Given the description of an element on the screen output the (x, y) to click on. 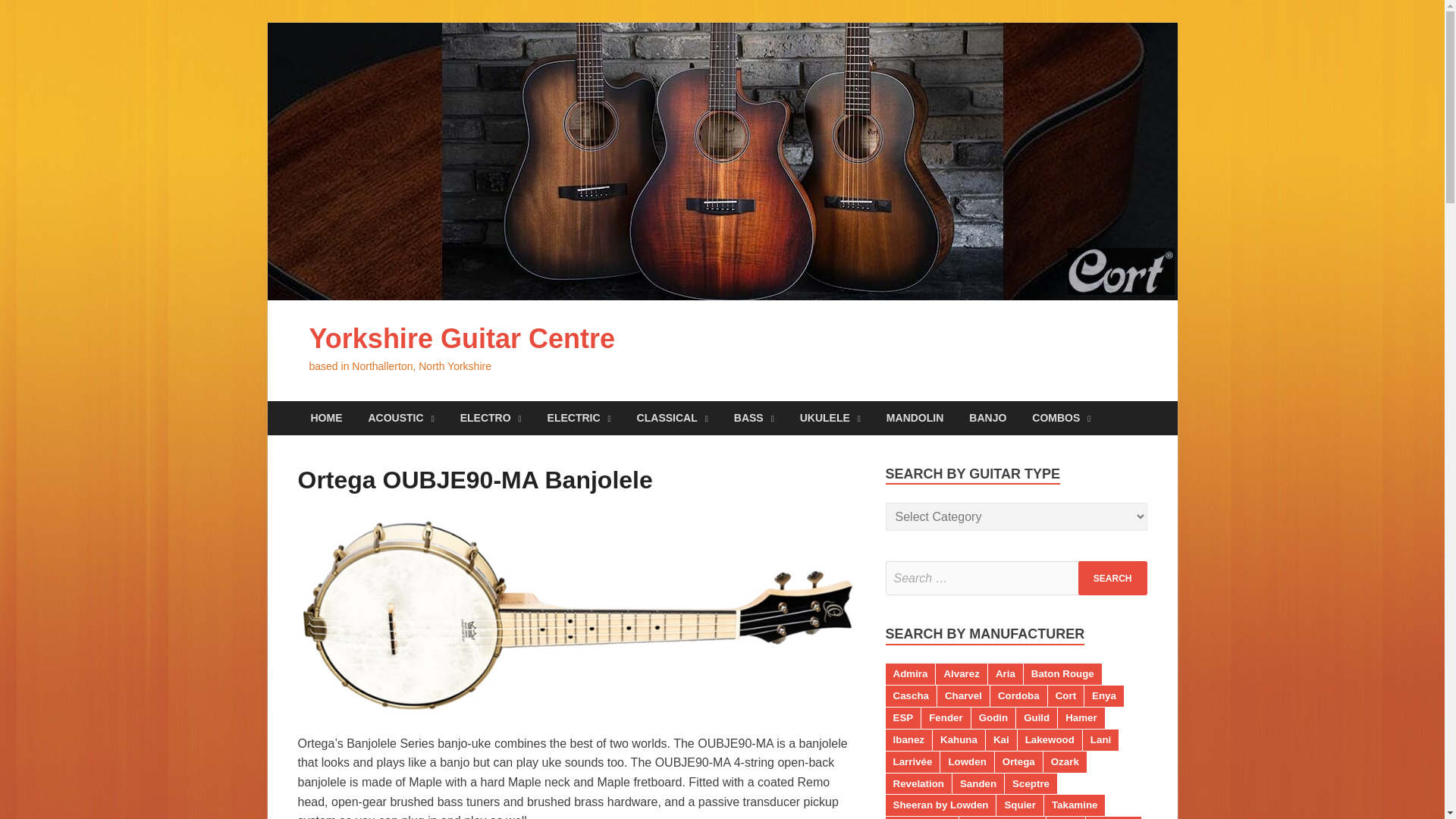
Combos (1061, 417)
ELECTRO (490, 417)
Search (1112, 578)
HOME (326, 417)
Yorkshire Guitar Centre (461, 337)
ELECTRIC (579, 417)
Search (1112, 578)
ACOUSTIC (400, 417)
